Given the description of an element on the screen output the (x, y) to click on. 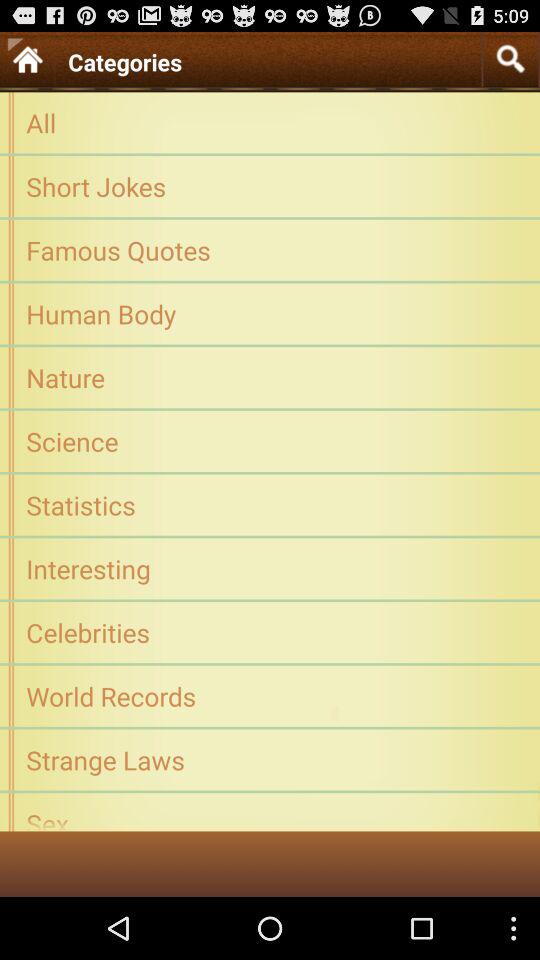
launch the icon next to the categories icon (510, 58)
